Given the description of an element on the screen output the (x, y) to click on. 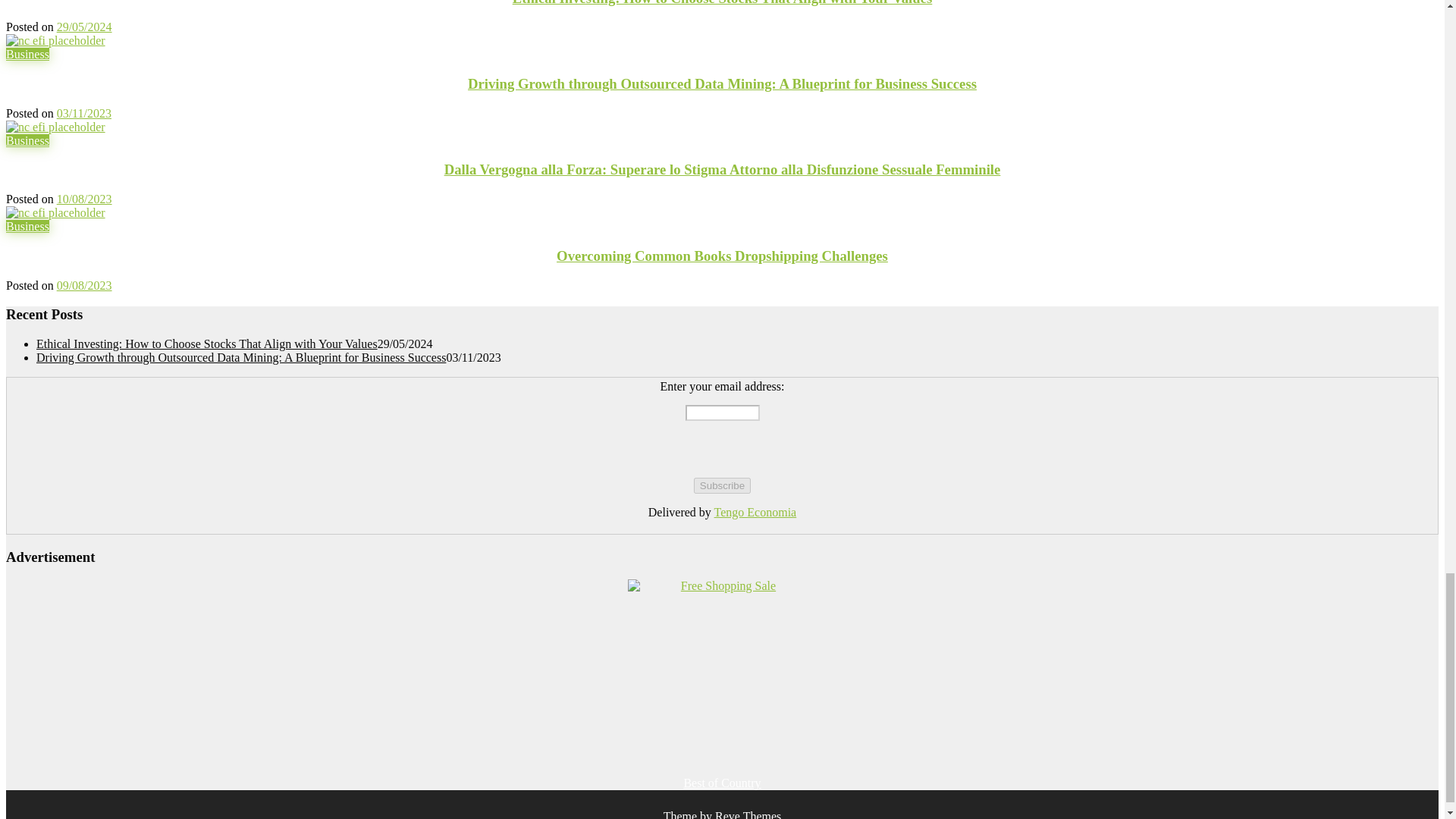
Subscribe (722, 485)
